Given the description of an element on the screen output the (x, y) to click on. 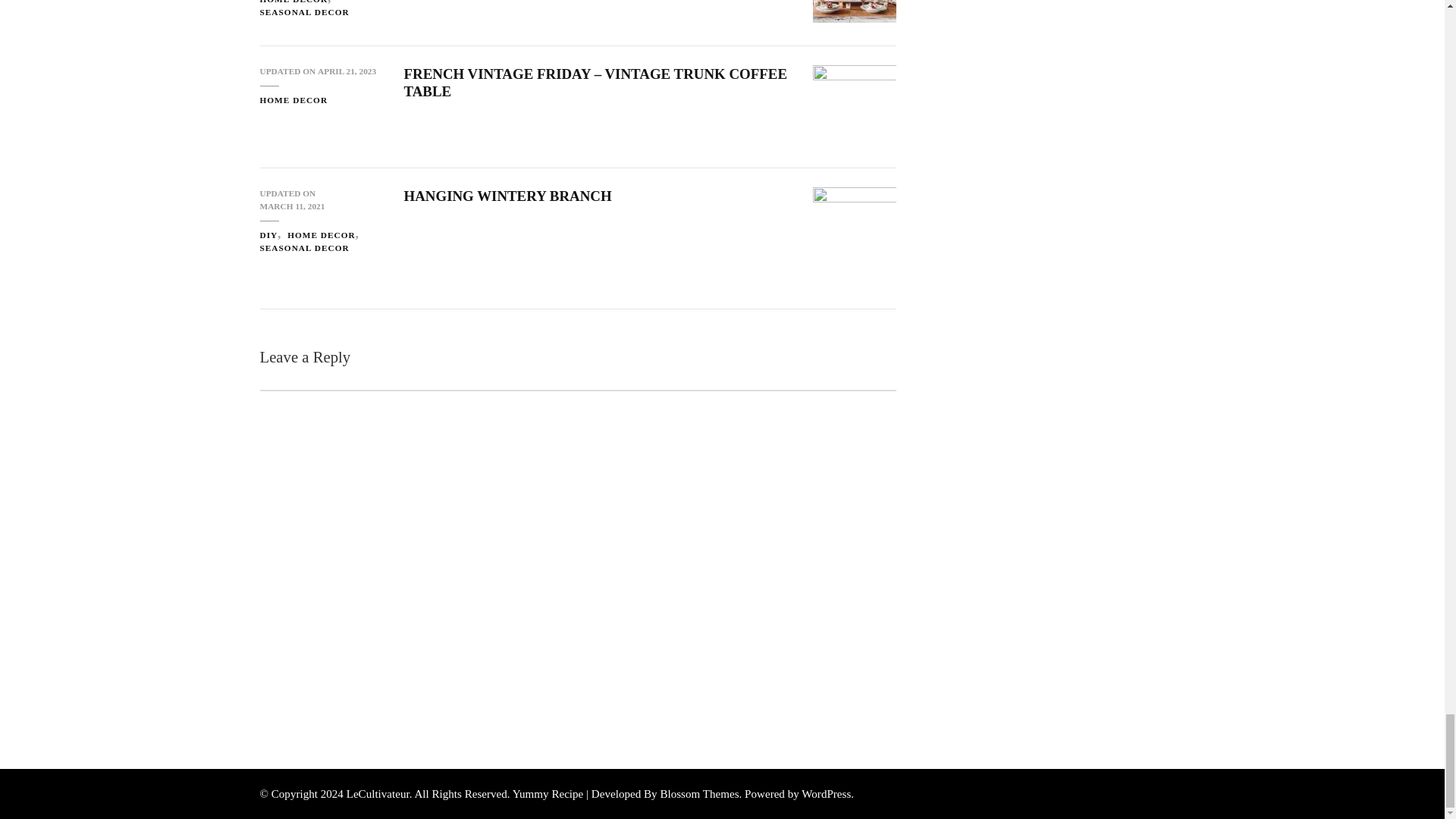
HOME DECOR (293, 100)
SEASONAL DECOR (304, 11)
HANGING WINTERY BRANCH (507, 195)
HOME DECOR (296, 2)
SEASONAL DECOR (304, 247)
MARCH 11, 2021 (291, 205)
APRIL 21, 2023 (346, 71)
HOME DECOR (324, 235)
DIY (272, 235)
